Given the description of an element on the screen output the (x, y) to click on. 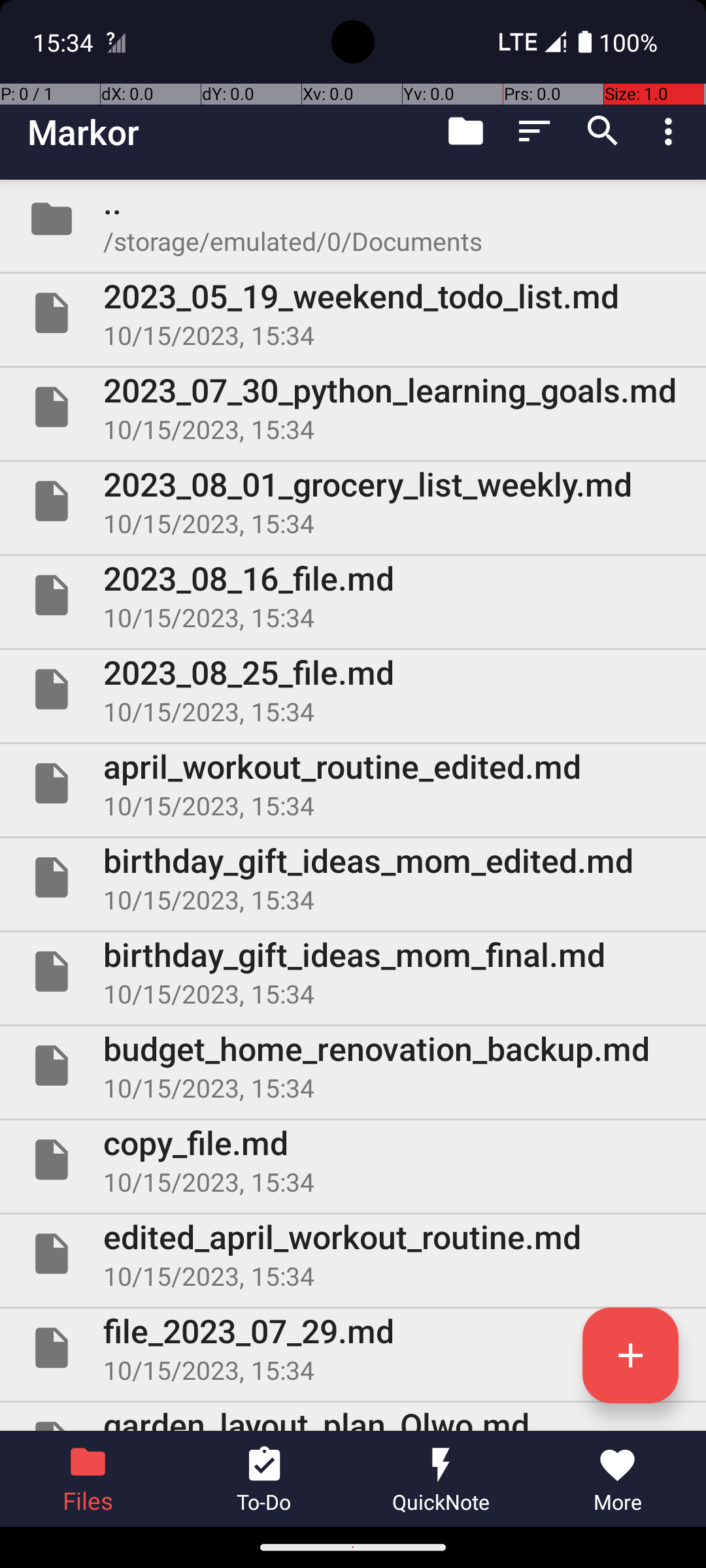
File 2023_05_19_weekend_todo_list.md  Element type: android.widget.LinearLayout (353, 312)
File 2023_07_30_python_learning_goals.md  Element type: android.widget.LinearLayout (353, 406)
File 2023_08_01_grocery_list_weekly.md  Element type: android.widget.LinearLayout (353, 500)
File 2023_08_16_file.md  Element type: android.widget.LinearLayout (353, 594)
File 2023_08_25_file.md  Element type: android.widget.LinearLayout (353, 689)
File april_workout_routine_edited.md  Element type: android.widget.LinearLayout (353, 783)
File birthday_gift_ideas_mom_edited.md  Element type: android.widget.LinearLayout (353, 877)
File birthday_gift_ideas_mom_final.md  Element type: android.widget.LinearLayout (353, 971)
File budget_home_renovation_backup.md  Element type: android.widget.LinearLayout (353, 1065)
File copy_file.md  Element type: android.widget.LinearLayout (353, 1159)
File edited_april_workout_routine.md  Element type: android.widget.LinearLayout (353, 1253)
File file_2023_07_29.md  Element type: android.widget.LinearLayout (353, 1347)
File garden_layout_plan_Olwo.md  Element type: android.widget.LinearLayout (353, 1416)
